Given the description of an element on the screen output the (x, y) to click on. 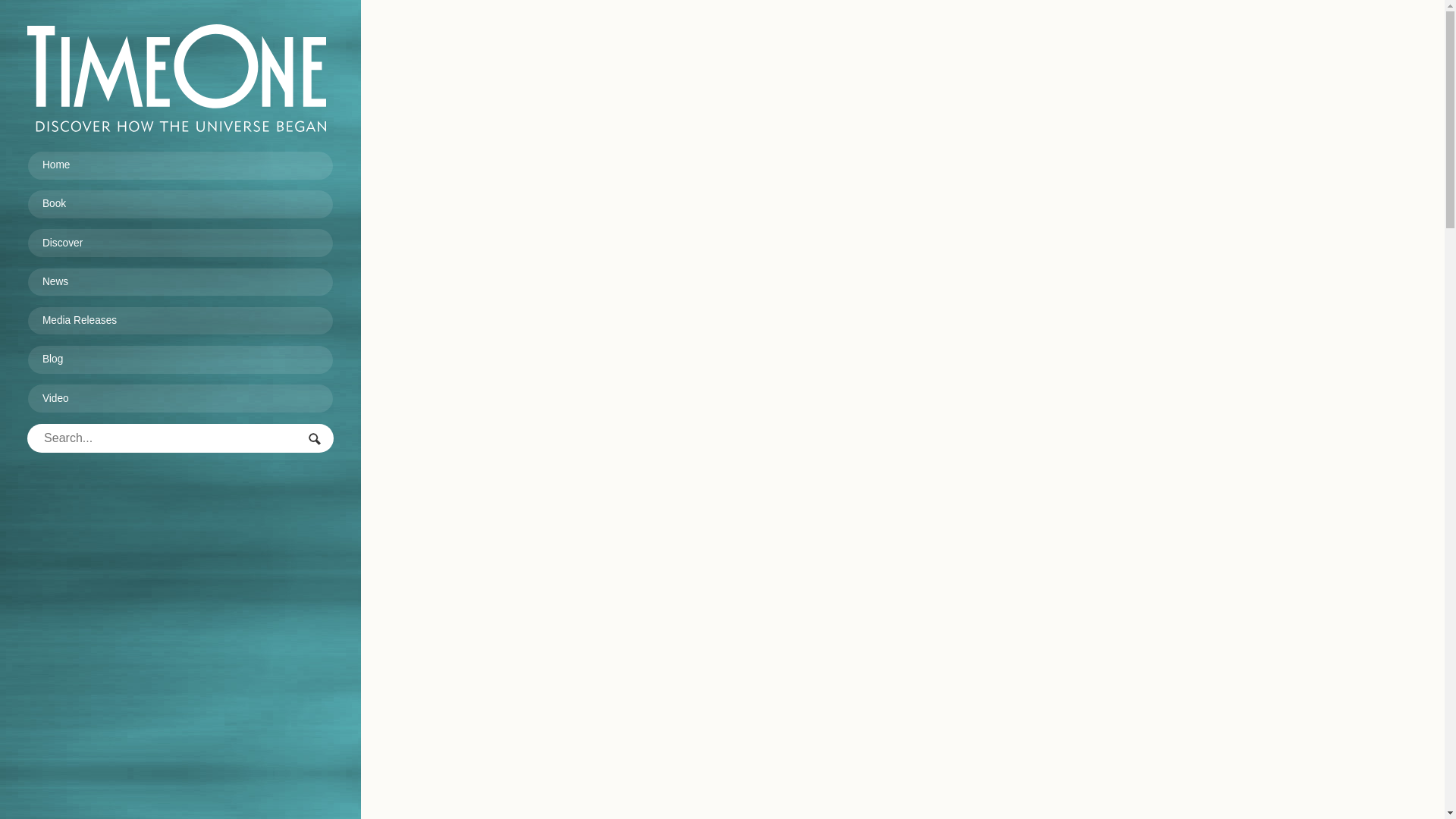
Book (180, 204)
News (180, 282)
Search (315, 440)
Blog (180, 359)
The Origin of The Universe (176, 77)
Home (180, 165)
Discover (180, 243)
Video (180, 398)
Search (315, 440)
Media Releases (180, 321)
Search (315, 440)
